Given the description of an element on the screen output the (x, y) to click on. 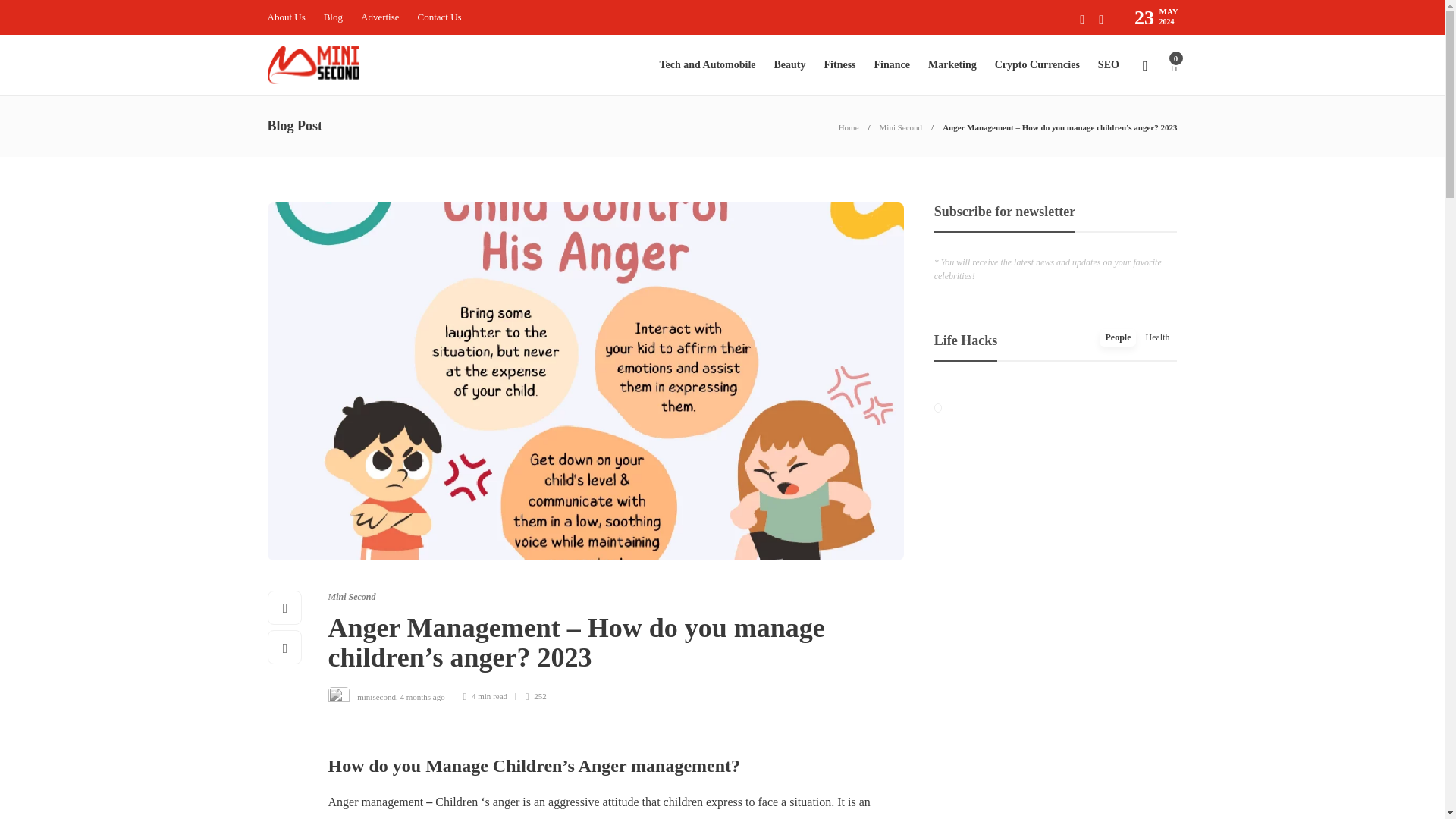
Crypto Currencies (1037, 65)
Tech and Automobile (707, 65)
Home (848, 126)
Home (848, 126)
About Us (285, 17)
Advertise (379, 17)
Contact Us (439, 17)
